Given the description of an element on the screen output the (x, y) to click on. 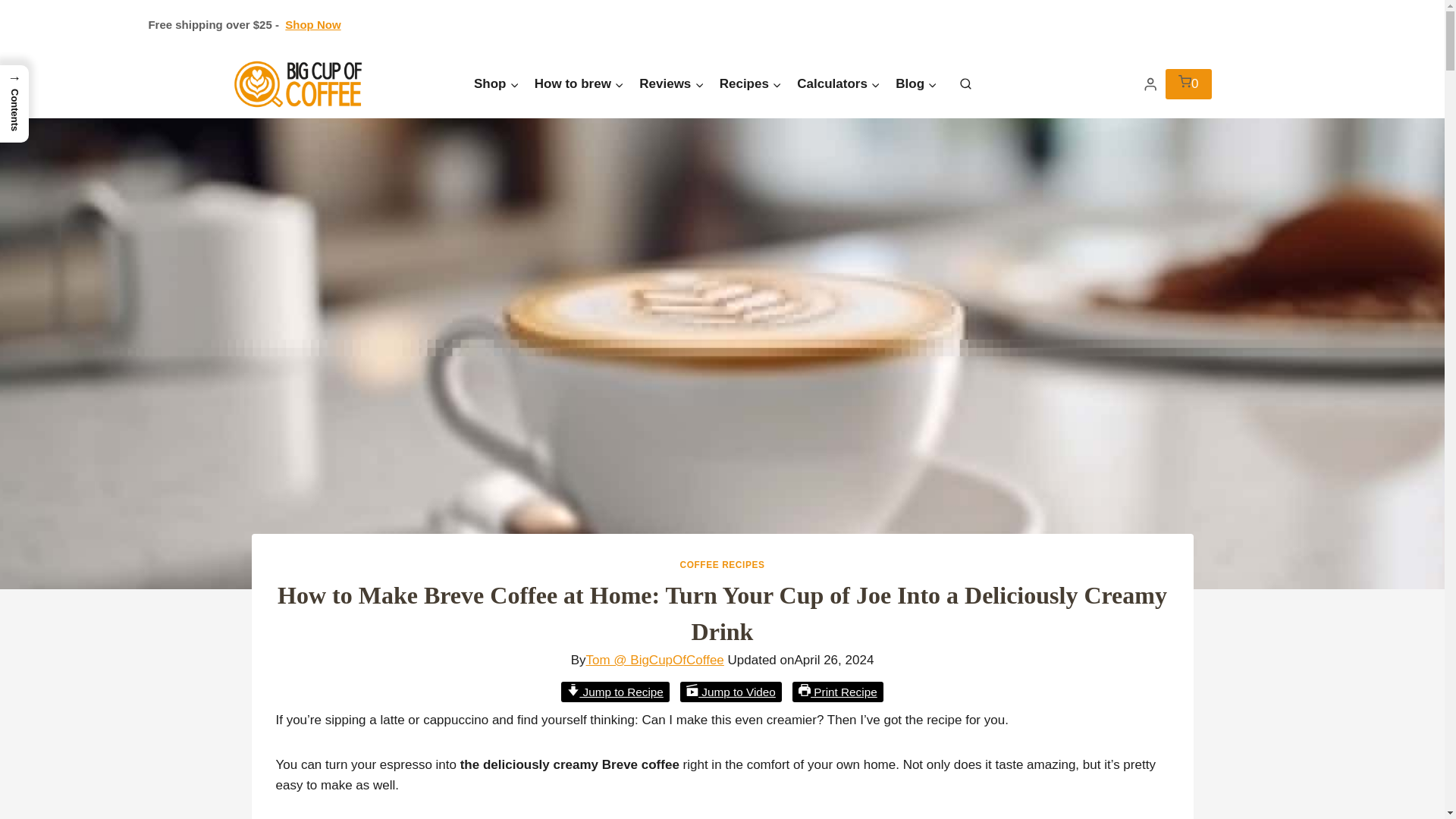
How to brew (579, 84)
Reviews (671, 84)
Recipes (750, 84)
Shop (496, 84)
Shop Now (312, 24)
